Given the description of an element on the screen output the (x, y) to click on. 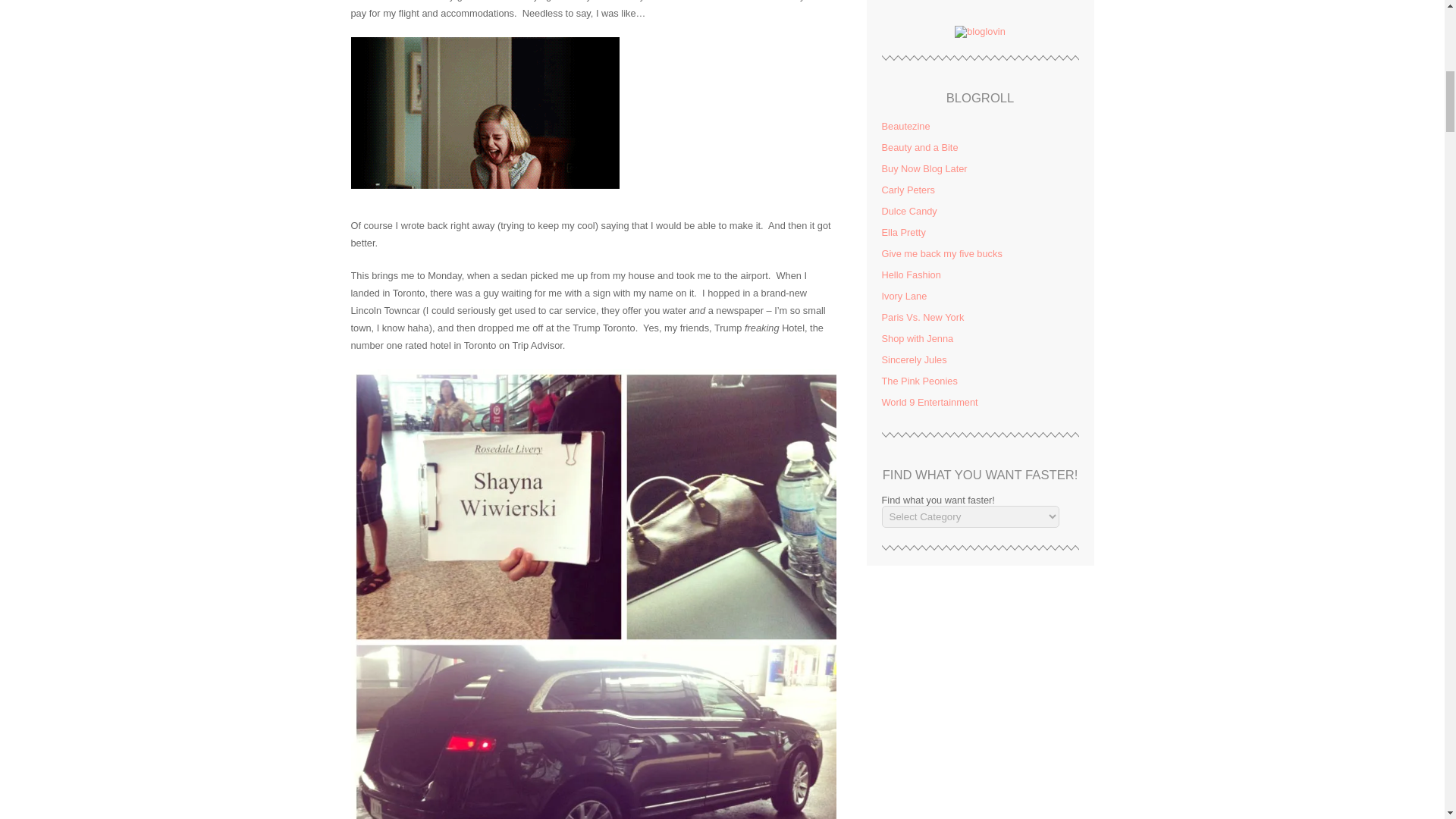
A Pop of Colour on Bloglovin (980, 30)
The official blog of City Girl Communications (907, 189)
